Given the description of an element on the screen output the (x, y) to click on. 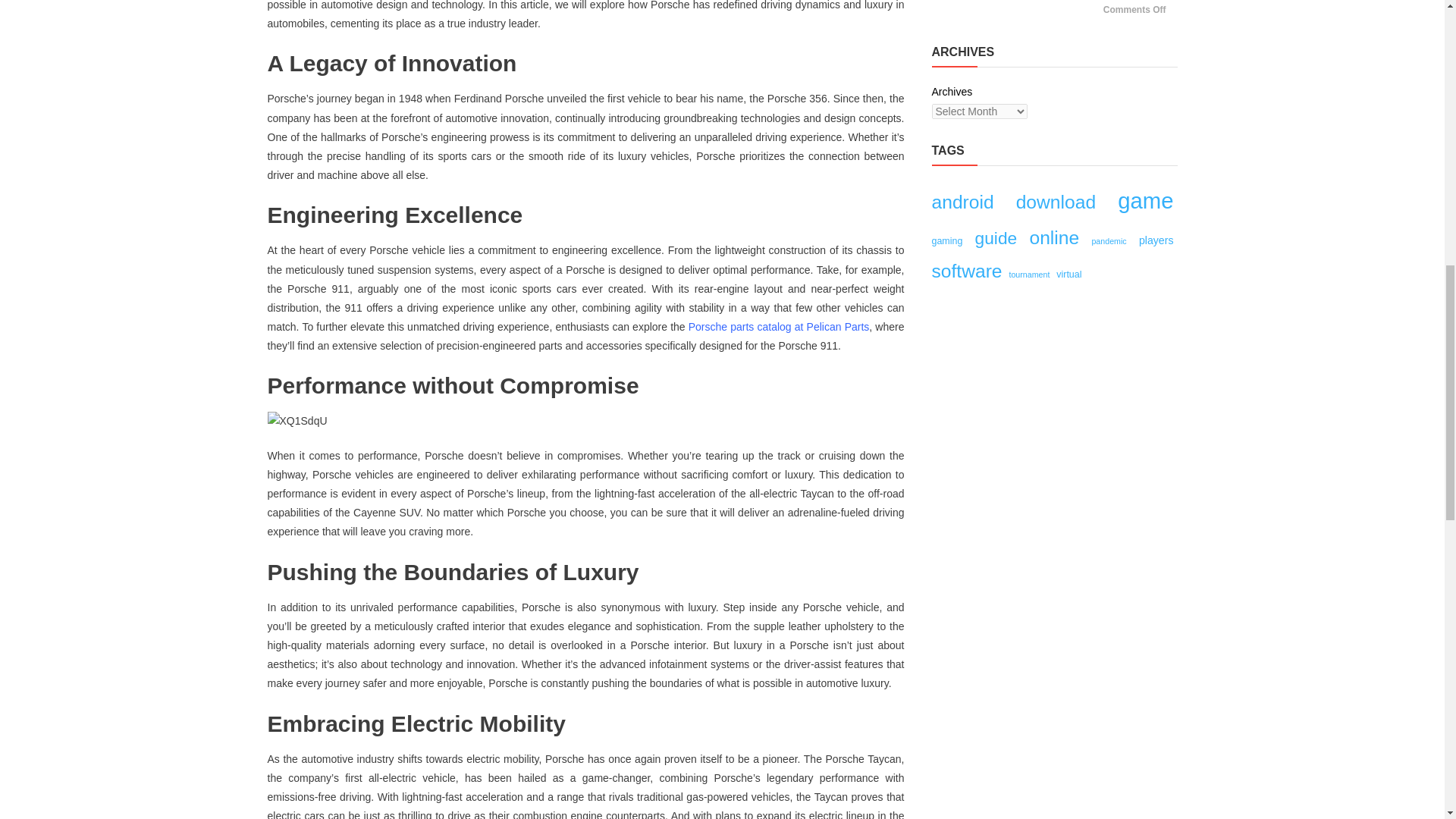
Porsche parts catalog at Pelican Parts (778, 326)
